Given the description of an element on the screen output the (x, y) to click on. 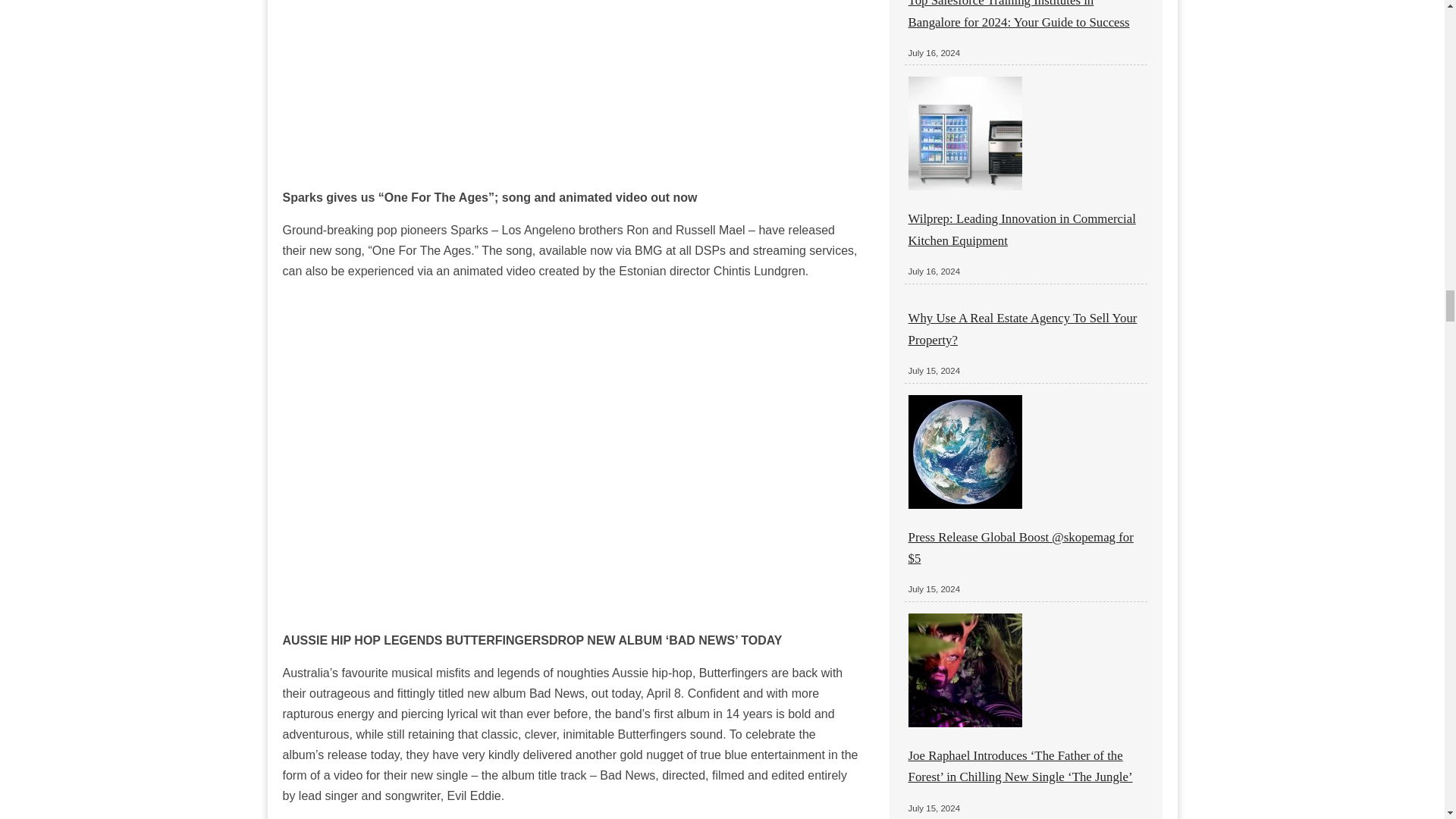
Wilprep: Leading Innovation in Commercial Kitchen Equipment (1021, 229)
Why Use A Real Estate Agency To Sell Your Property? (1022, 328)
